Given the description of an element on the screen output the (x, y) to click on. 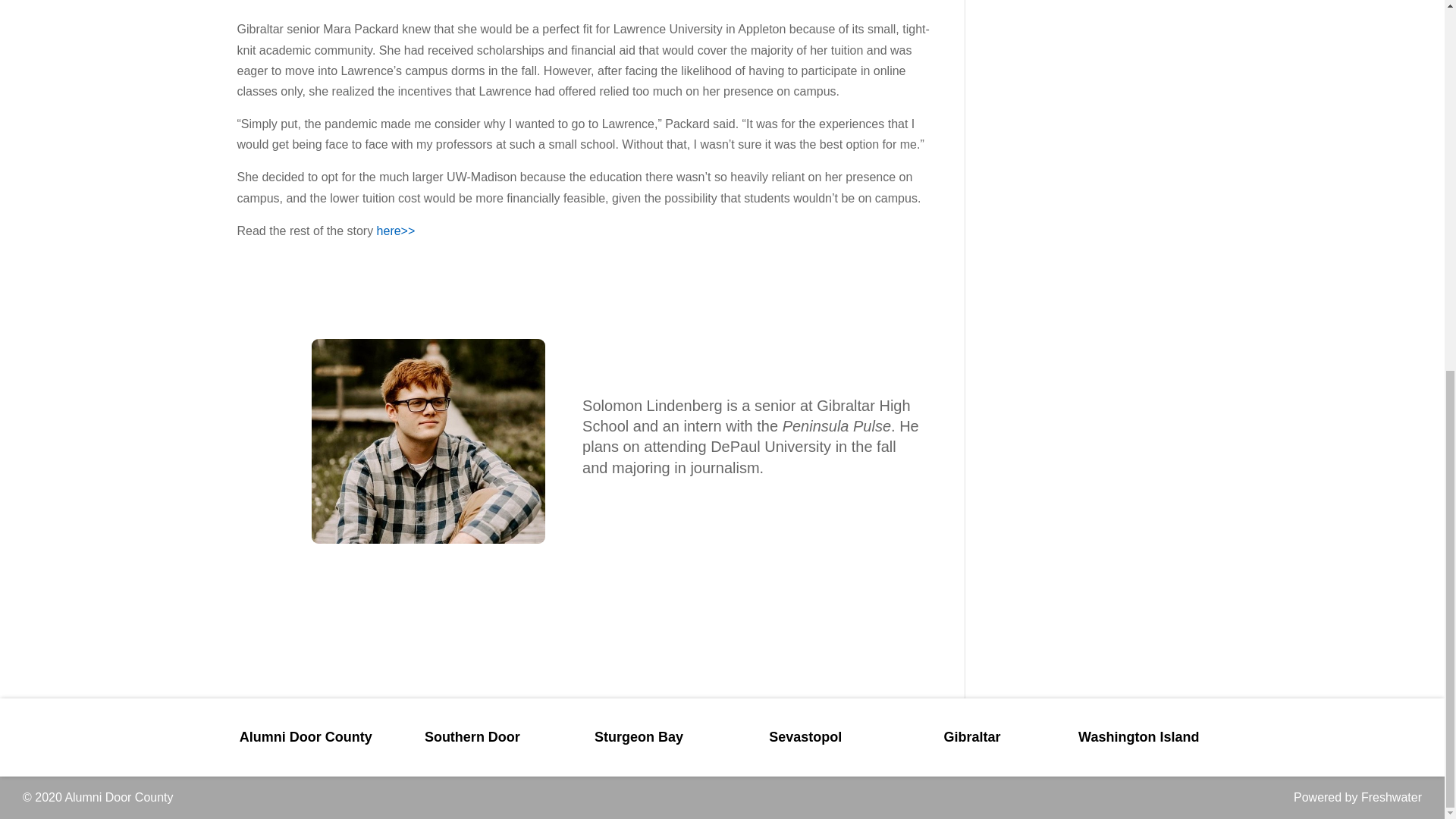
Sturgeon Bay (638, 736)
Powered by Freshwater (1358, 797)
Washington Island (1138, 736)
Alumni Door County (306, 736)
Gibraltar (972, 736)
Sevastopol (804, 736)
Alumni Door County (118, 797)
Southern Door (472, 736)
